Given the description of an element on the screen output the (x, y) to click on. 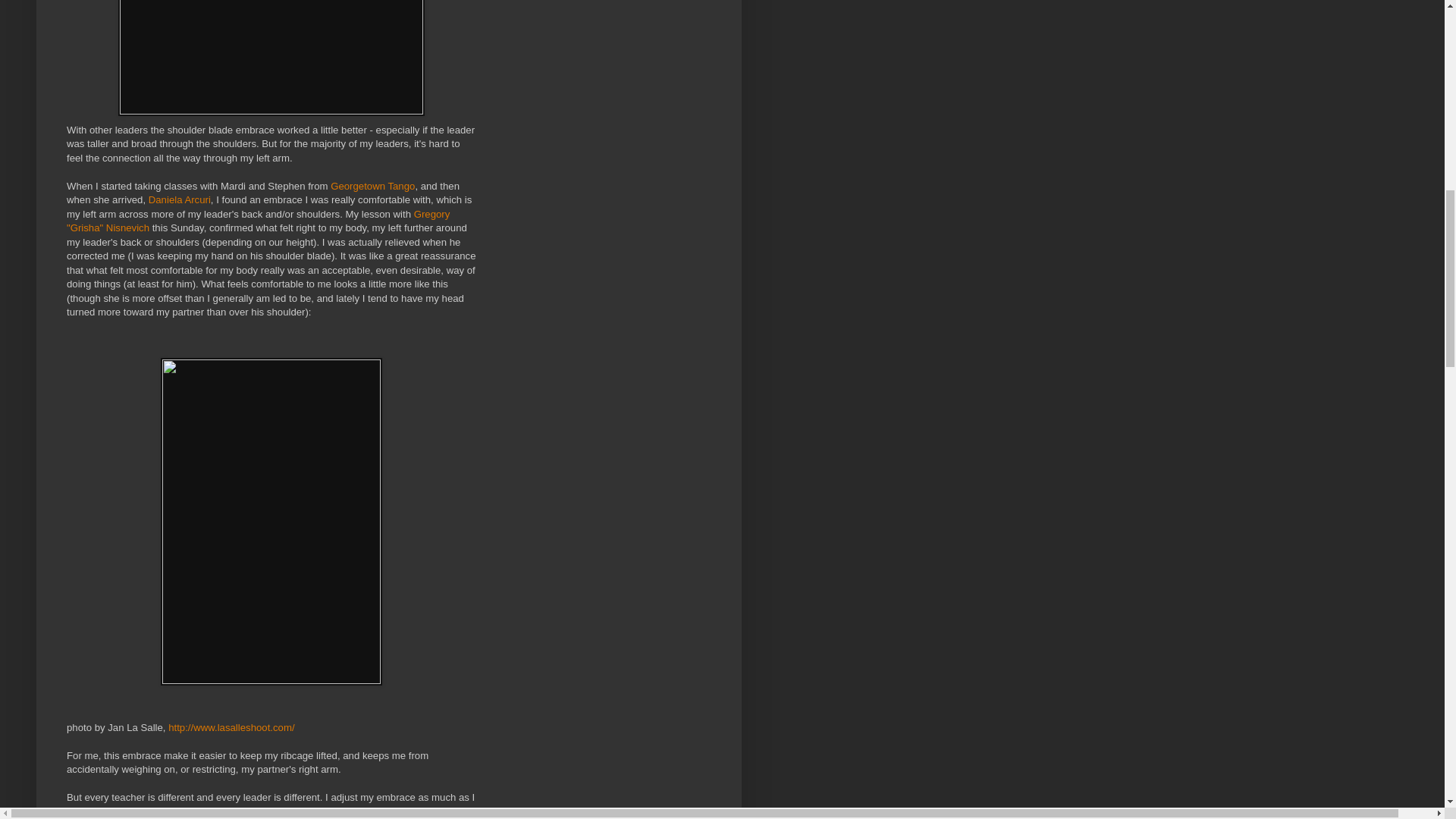
Gregory "Grisha" Nisnevich (257, 220)
Georgetown Tango (372, 185)
Daniela Arcuri (179, 199)
